Given the description of an element on the screen output the (x, y) to click on. 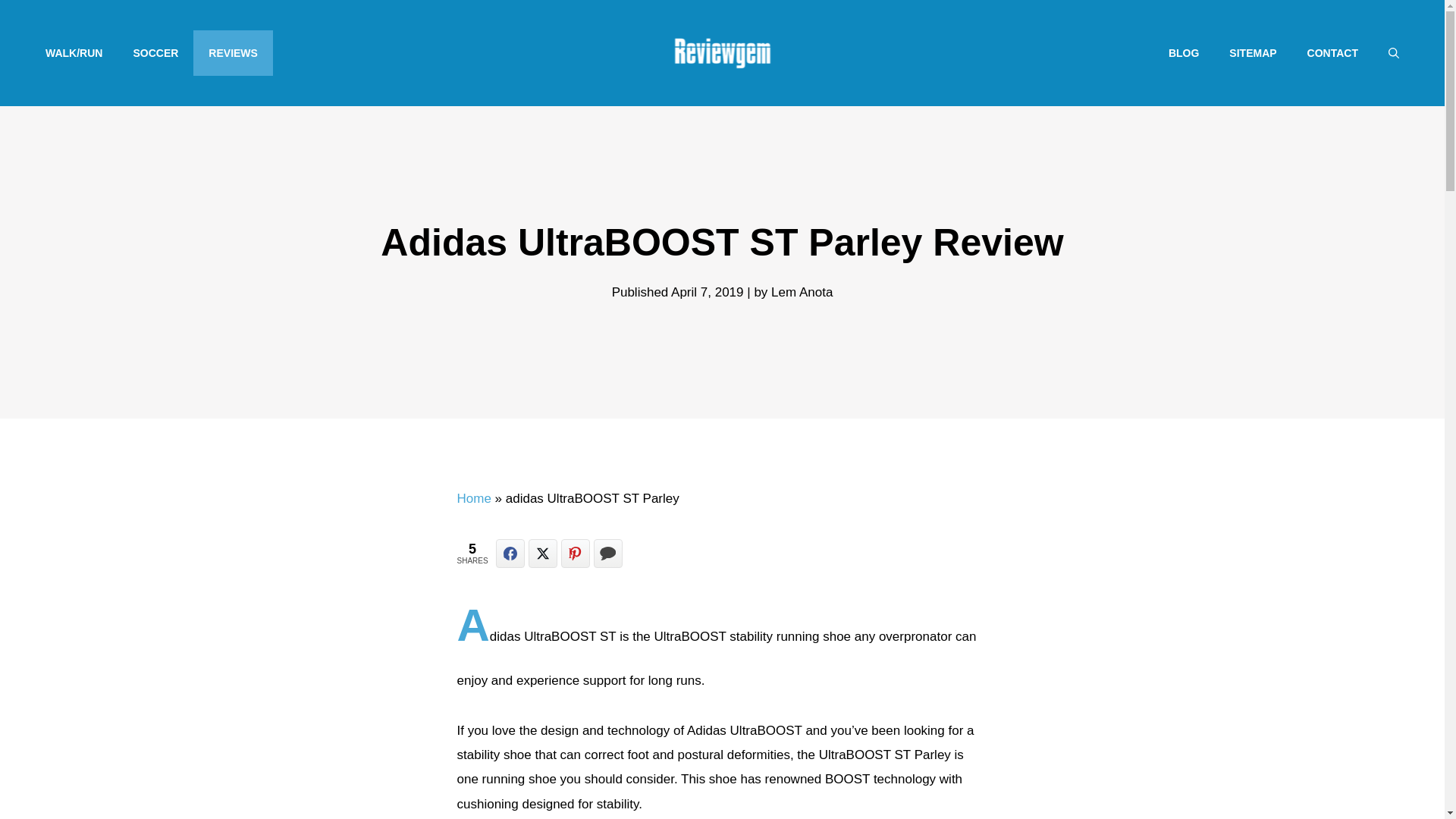
Share on Pin (574, 553)
CONTACT (1332, 53)
SOCCER (155, 53)
BLOG (1183, 53)
REVIEWS (233, 53)
SITEMAP (1252, 53)
Share on Tweet (542, 553)
Home (473, 498)
MENU ITEM SEPARATOR (713, 53)
Share on Share (510, 553)
